Given the description of an element on the screen output the (x, y) to click on. 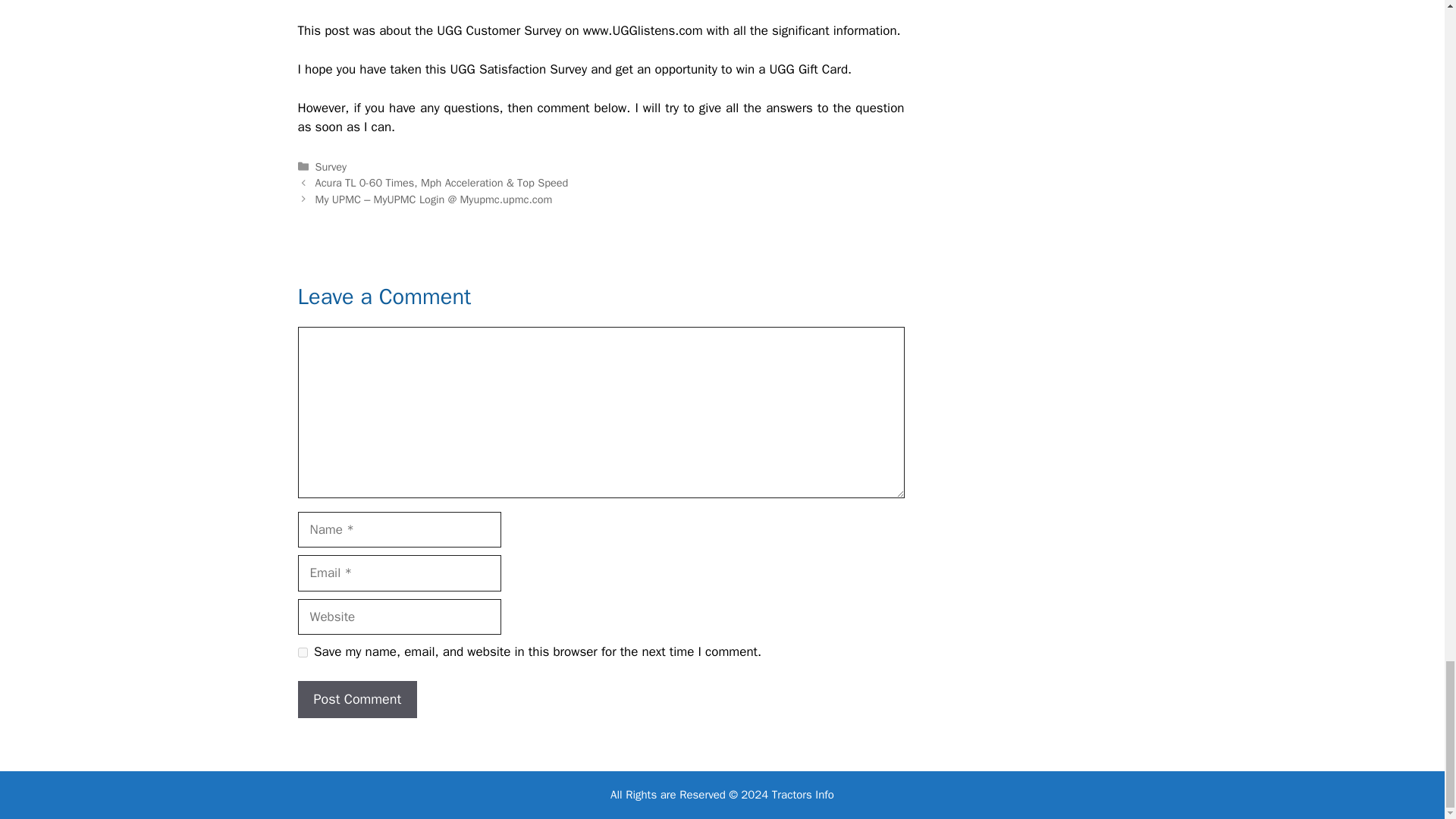
Post Comment (356, 699)
Post Comment (356, 699)
yes (302, 652)
Survey (331, 166)
